Given the description of an element on the screen output the (x, y) to click on. 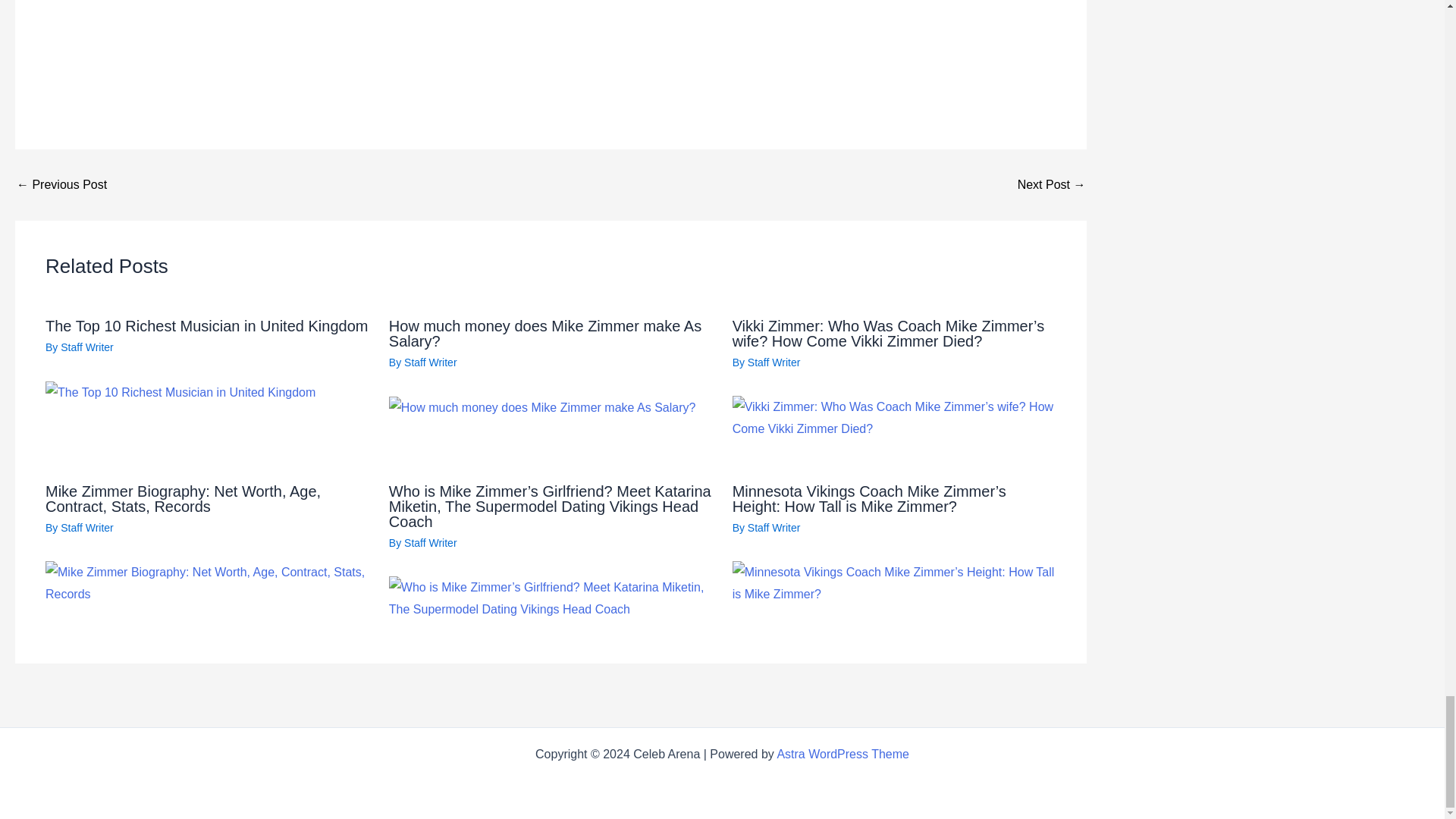
View all posts by Staff Writer (430, 362)
View all posts by Staff Writer (87, 527)
View all posts by Staff Writer (430, 542)
View all posts by Staff Writer (87, 346)
View all posts by Staff Writer (774, 362)
